Given the description of an element on the screen output the (x, y) to click on. 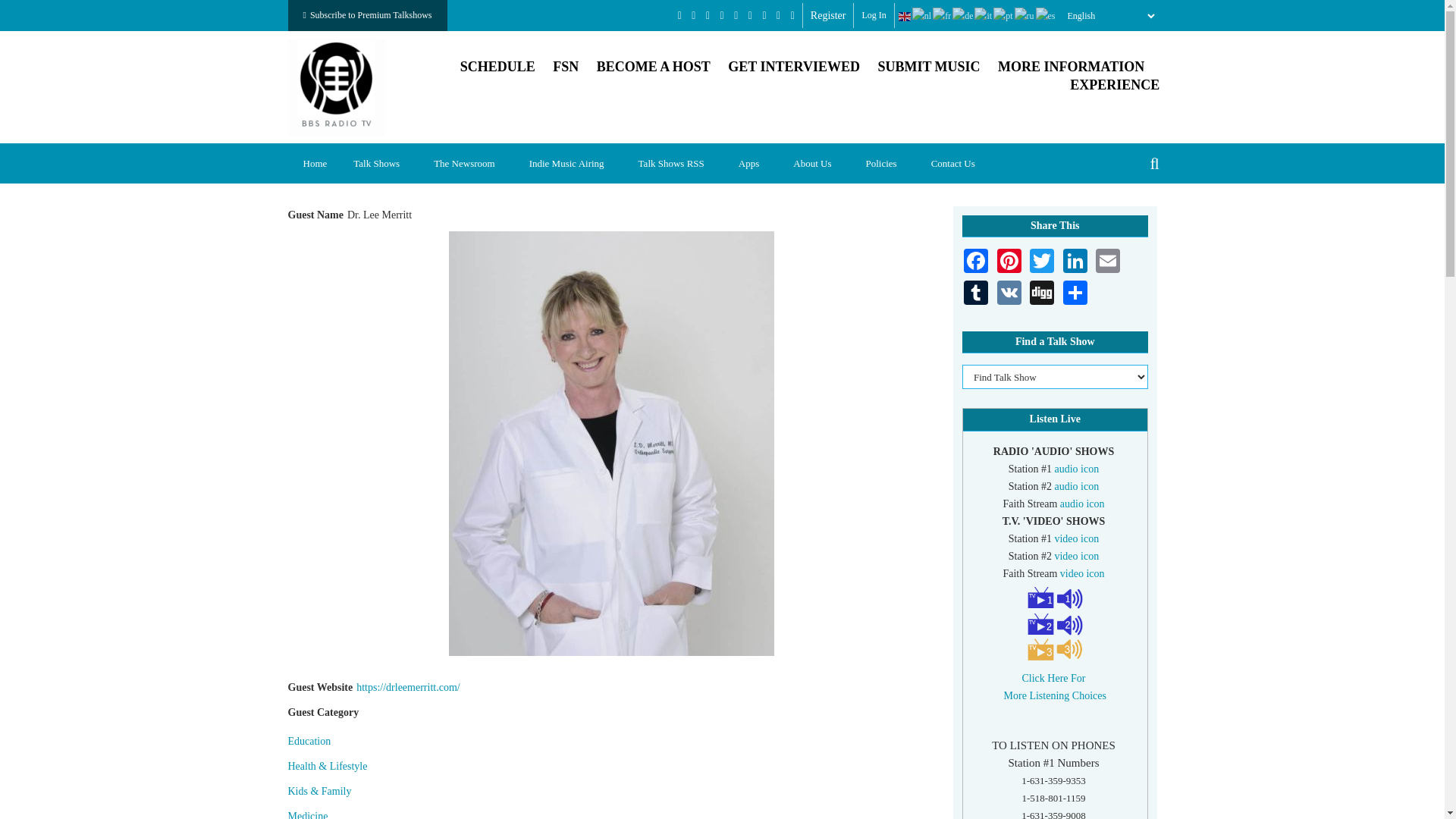
The Experience of Live Talk Shows Done Right! (1114, 84)
Deutsch (963, 15)
Log In (873, 14)
Faith Stream Network (565, 66)
BECOME A HOST (653, 66)
FSN (565, 66)
Italiano (983, 15)
Register (827, 15)
Home (336, 85)
GET INTERVIEWED (794, 66)
Subscribe to Premium Talkshows (367, 15)
SCHEDULE (497, 66)
BBS Radio TV Live Video Stream for Station 1 (1076, 538)
EXPERIENCE (1114, 84)
